Given the description of an element on the screen output the (x, y) to click on. 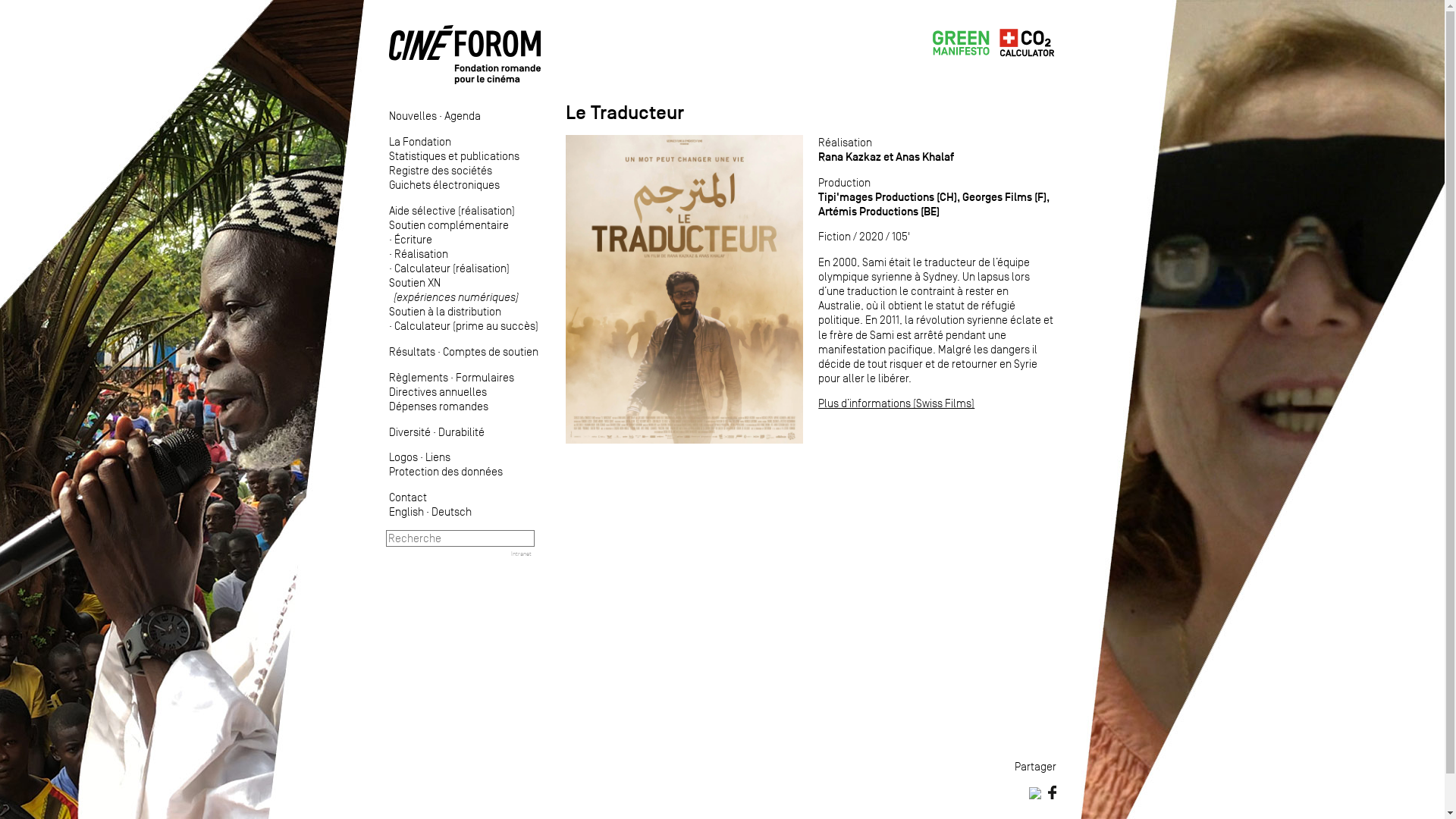
? Element type: text (72, 8)
Intranet Element type: text (521, 553)
Comptes de soutien Element type: text (490, 351)
Formulaires Element type: text (484, 376)
Nouvelles Element type: text (412, 115)
Logos Element type: text (402, 456)
Directives annuelles Element type: text (437, 391)
Deutsch Element type: text (450, 511)
Agenda Element type: text (462, 115)
Statistiques et publications Element type: text (453, 155)
Liens Element type: text (436, 456)
La Fondation Element type: text (419, 140)
English Element type: text (405, 511)
Contact Element type: text (407, 496)
